Given the description of an element on the screen output the (x, y) to click on. 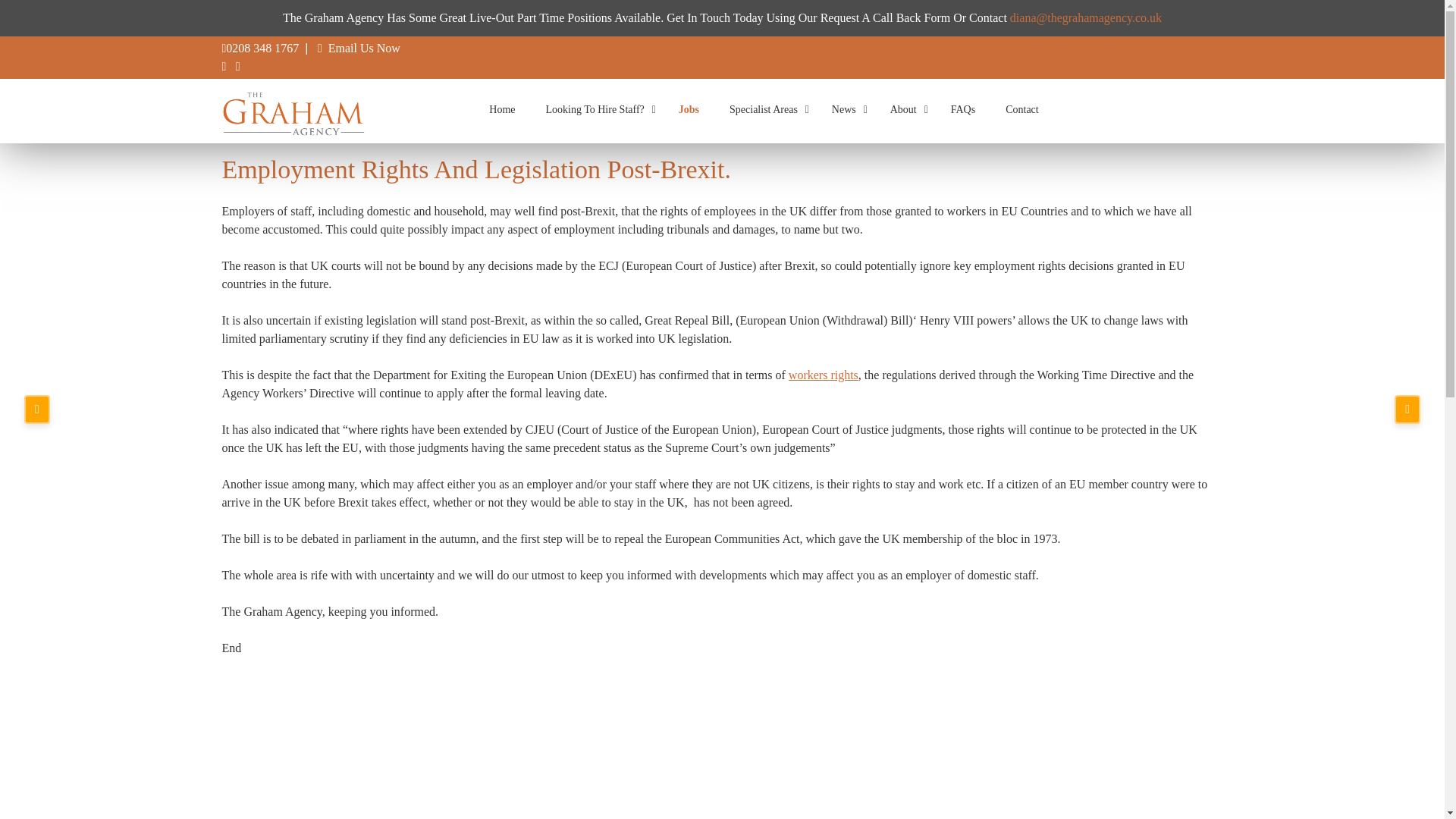
Looking To Hire Staff? (595, 108)
News (845, 108)
Contact (1022, 108)
Jobs (688, 108)
About (905, 108)
Home (501, 108)
0208 348 1767 (261, 47)
Specialist Areas (765, 108)
Email Us Now (364, 47)
FAQs (963, 108)
workers rights (824, 374)
